Given the description of an element on the screen output the (x, y) to click on. 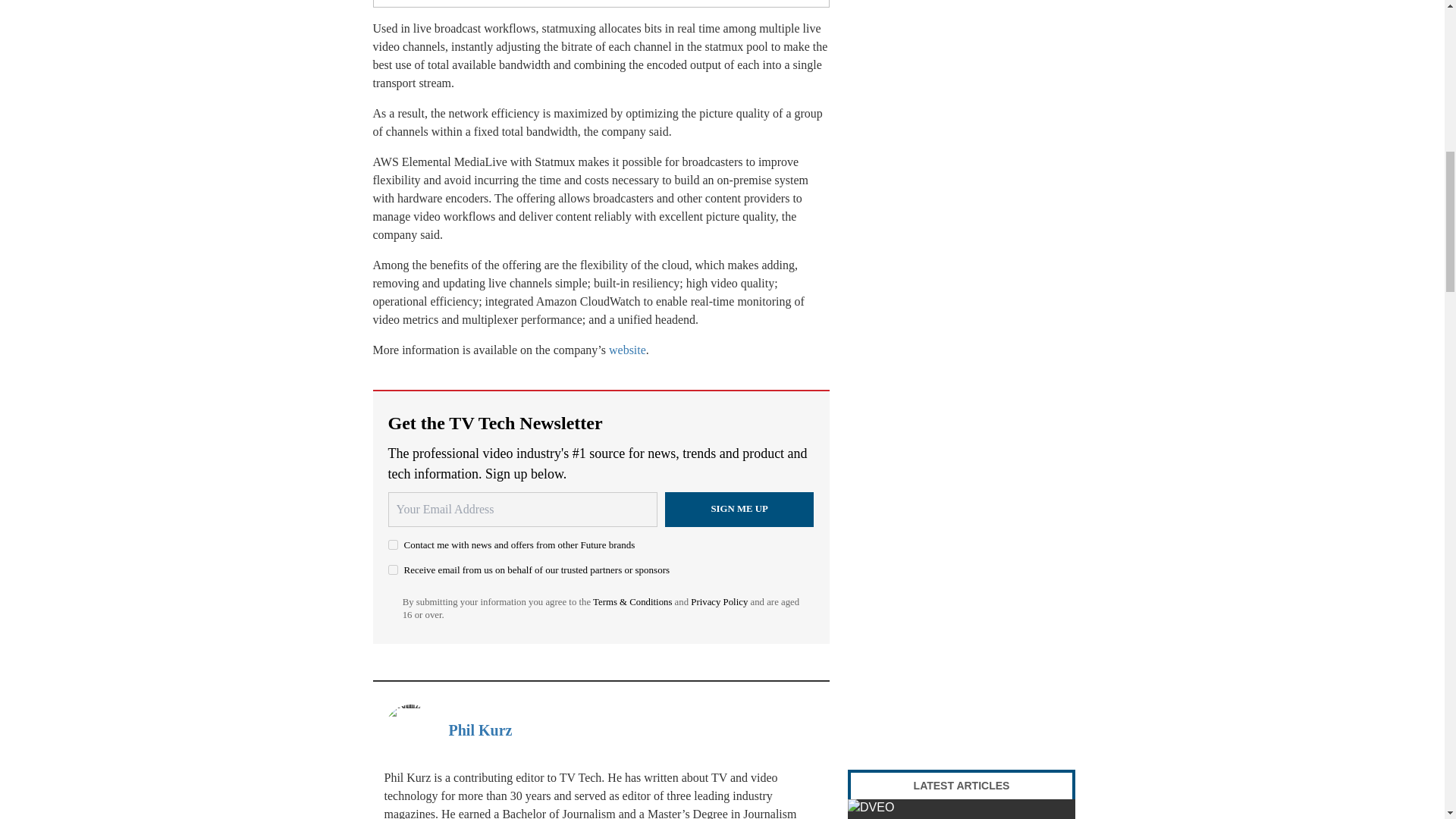
on (392, 569)
Sign me up (739, 509)
on (392, 544)
Sign me up (739, 509)
Privacy Policy (719, 602)
Phil Kurz (480, 729)
website (627, 349)
